Given the description of an element on the screen output the (x, y) to click on. 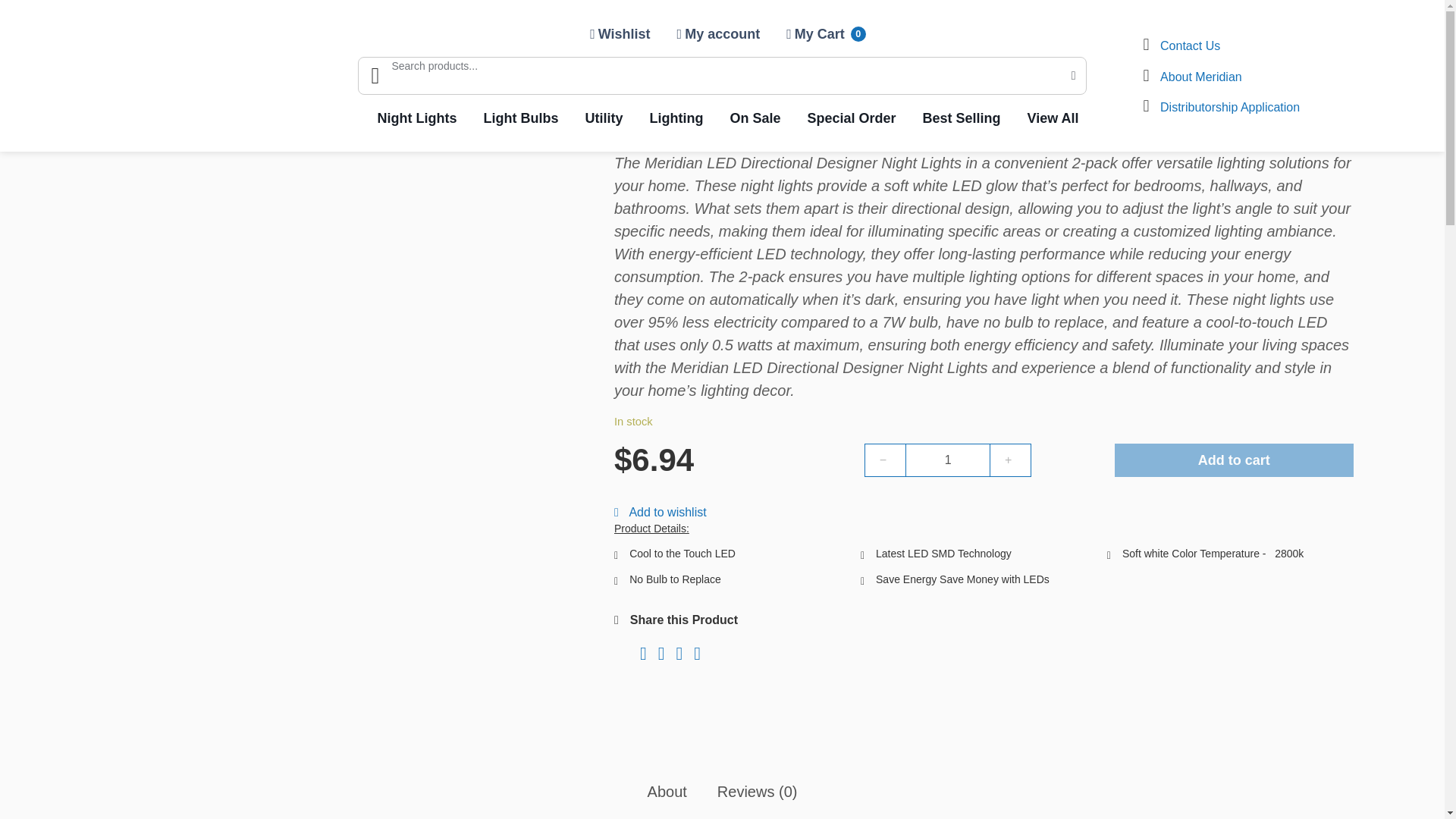
Add to cart (1234, 459)
Utility (603, 118)
About (667, 791)
Distributorship Application (1221, 106)
All Night Lights (174, 31)
My account (718, 33)
Contact Us (1181, 44)
About Meridian (825, 33)
Wishlist (1192, 75)
